Given the description of an element on the screen output the (x, y) to click on. 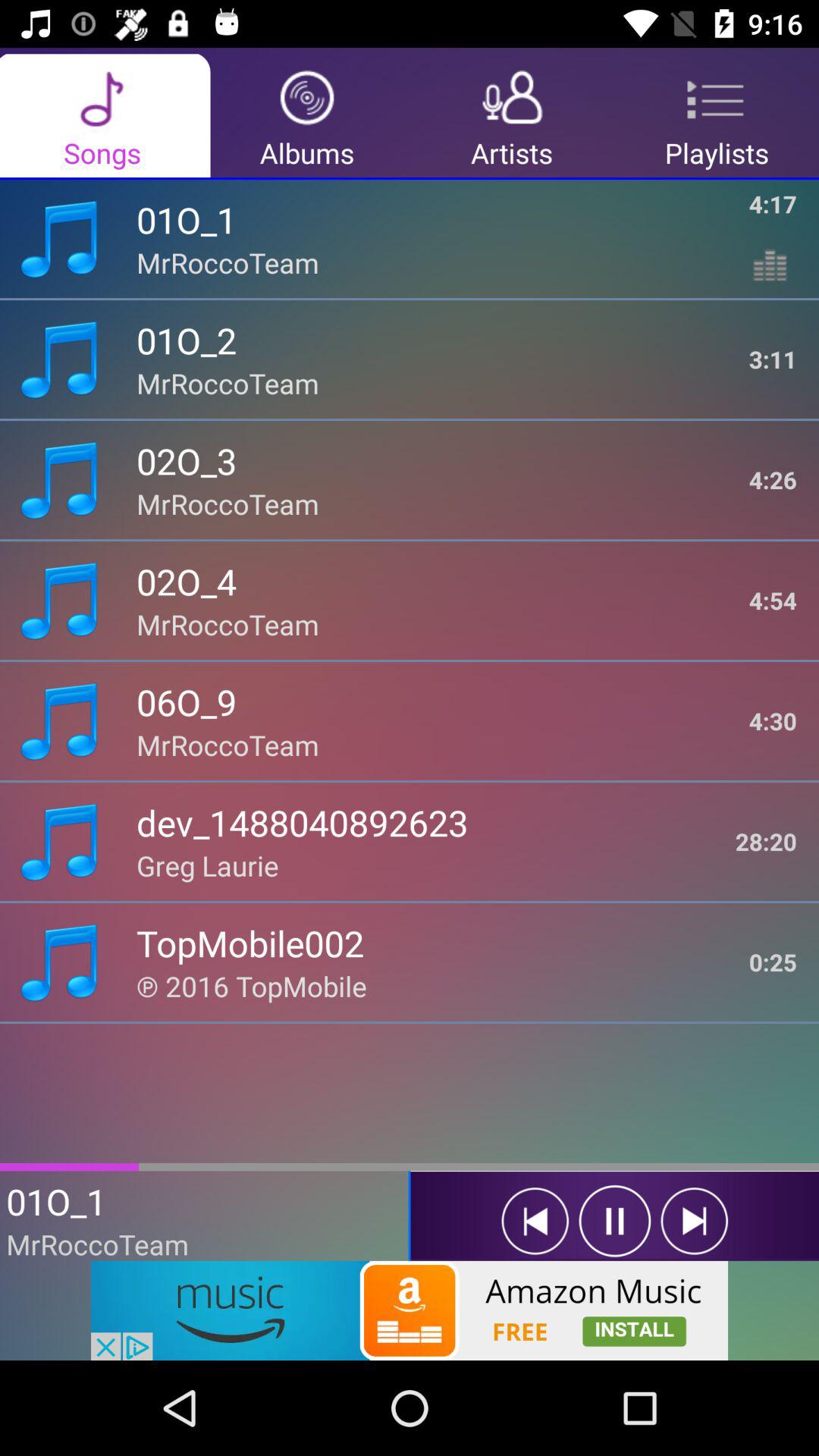
go to next option (694, 1220)
